Given the description of an element on the screen output the (x, y) to click on. 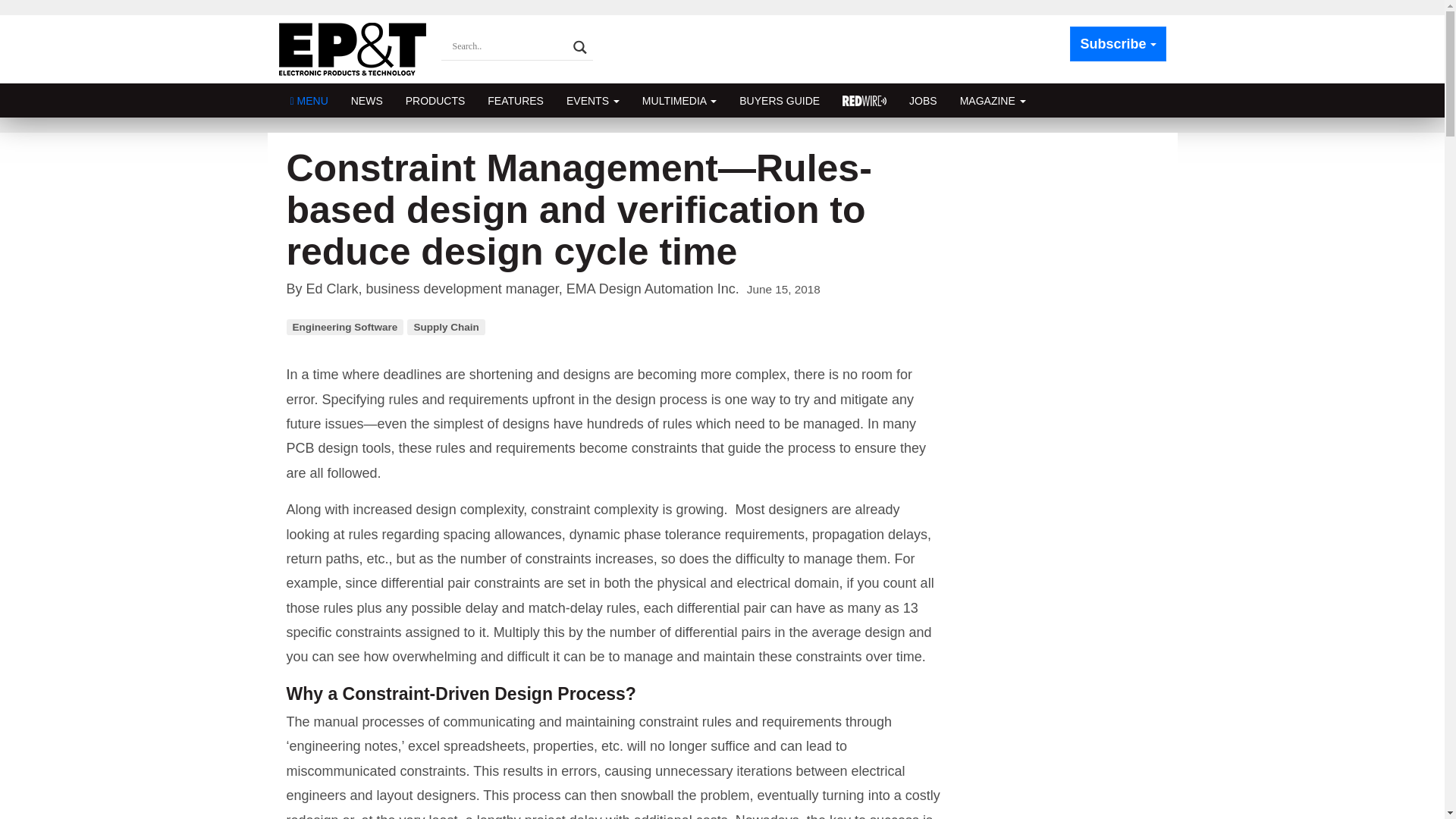
NEWS (366, 100)
MAGAZINE (992, 100)
PRODUCTS (435, 100)
MULTIMEDIA (679, 100)
FEATURES (515, 100)
Click to show site navigation (309, 100)
BUYERS GUIDE (779, 100)
EVENTS (592, 100)
MENU (309, 100)
JOBS (923, 100)
